Given the description of an element on the screen output the (x, y) to click on. 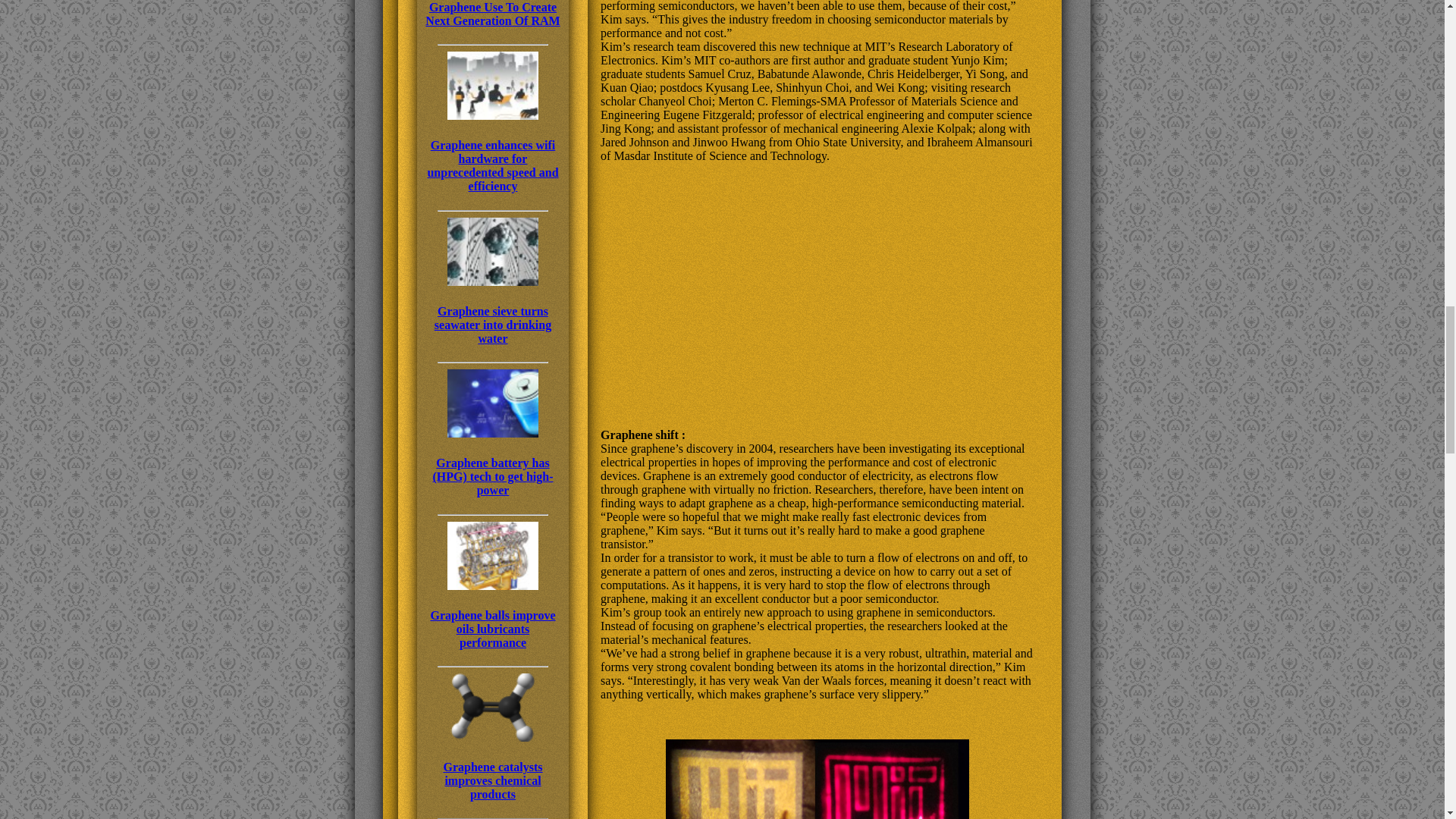
Graphene sieve turns seawater into drinking water (492, 310)
Graphene catalysts improves chemical products (492, 766)
Graphene balls improve oils lubricants performance (492, 614)
Advertisement (816, 281)
Graphene Use To Create Next Generation Of RAM (492, 13)
